Given the description of an element on the screen output the (x, y) to click on. 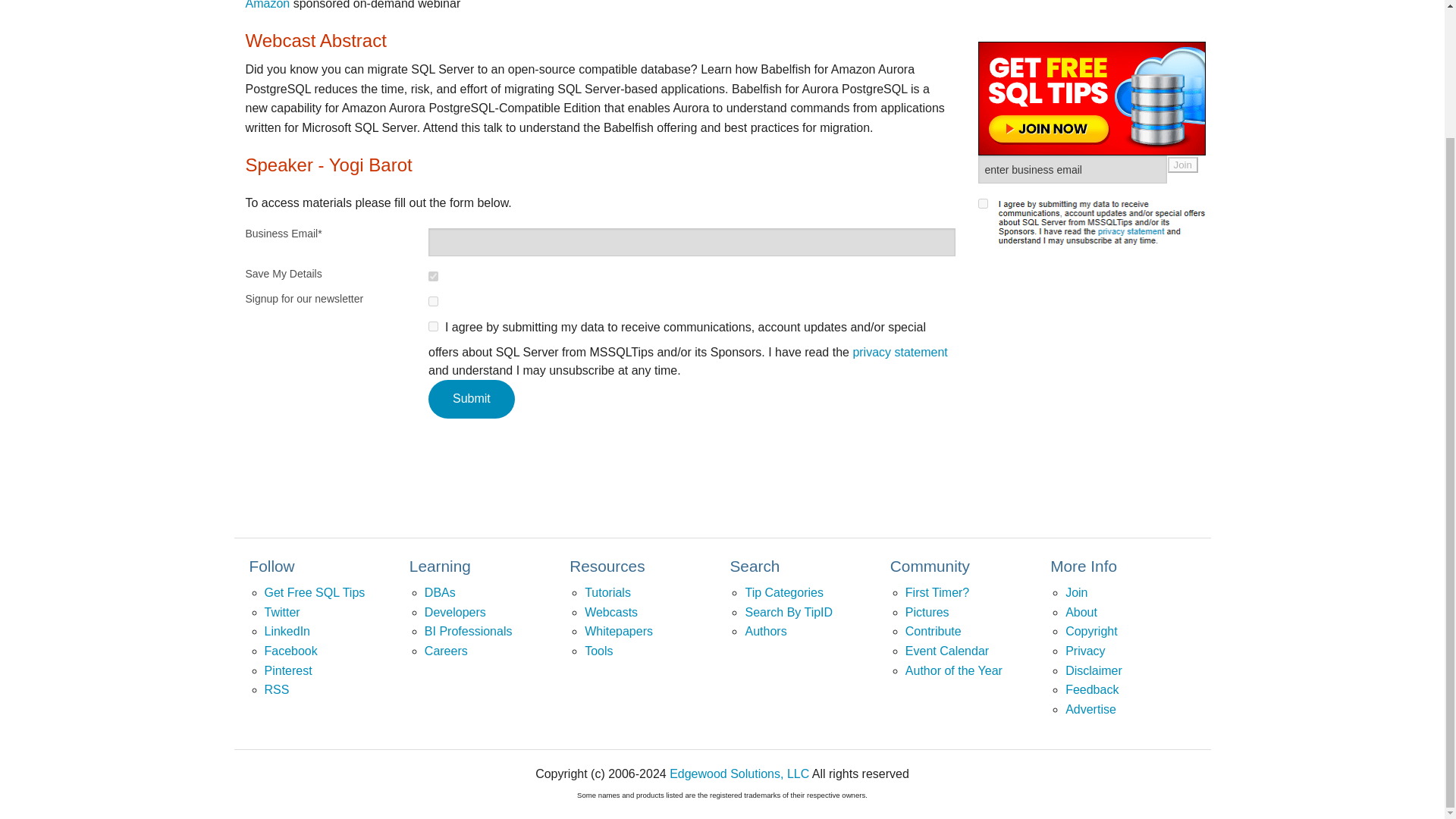
All Tutorials (962, 100)
ON (433, 301)
Backup (1039, 134)
All Categories (872, 134)
Join (1182, 20)
PowerShell (1039, 32)
Reporting Services (962, 66)
SQL Server Career Plan (872, 66)
SQL Server Download Links (872, 7)
1 (983, 59)
